Given the description of an element on the screen output the (x, y) to click on. 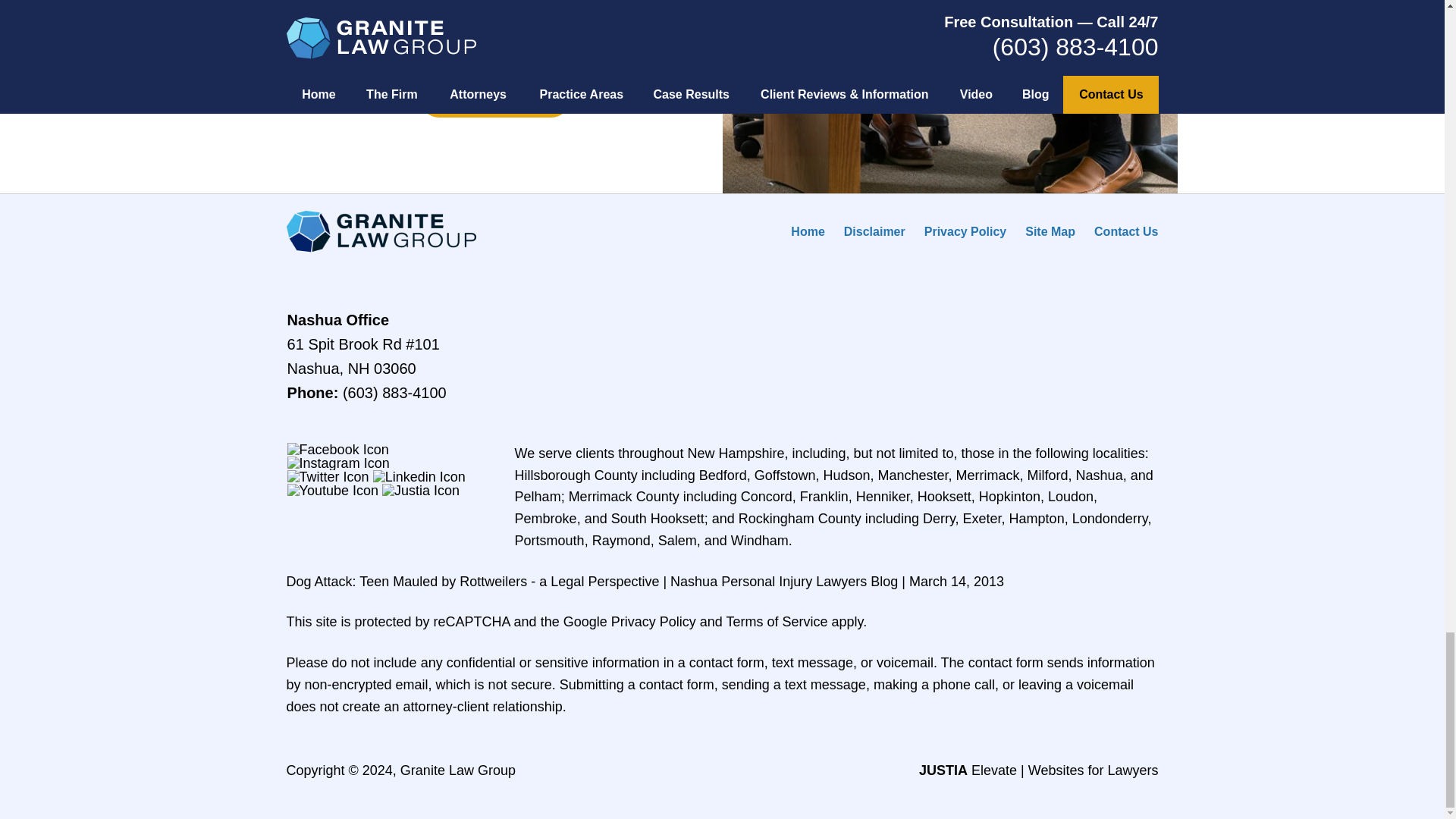
Instagram (338, 463)
Linkedin (418, 477)
Youtube (332, 490)
Twitter (327, 477)
Facebook (337, 449)
Justia (420, 490)
